Given the description of an element on the screen output the (x, y) to click on. 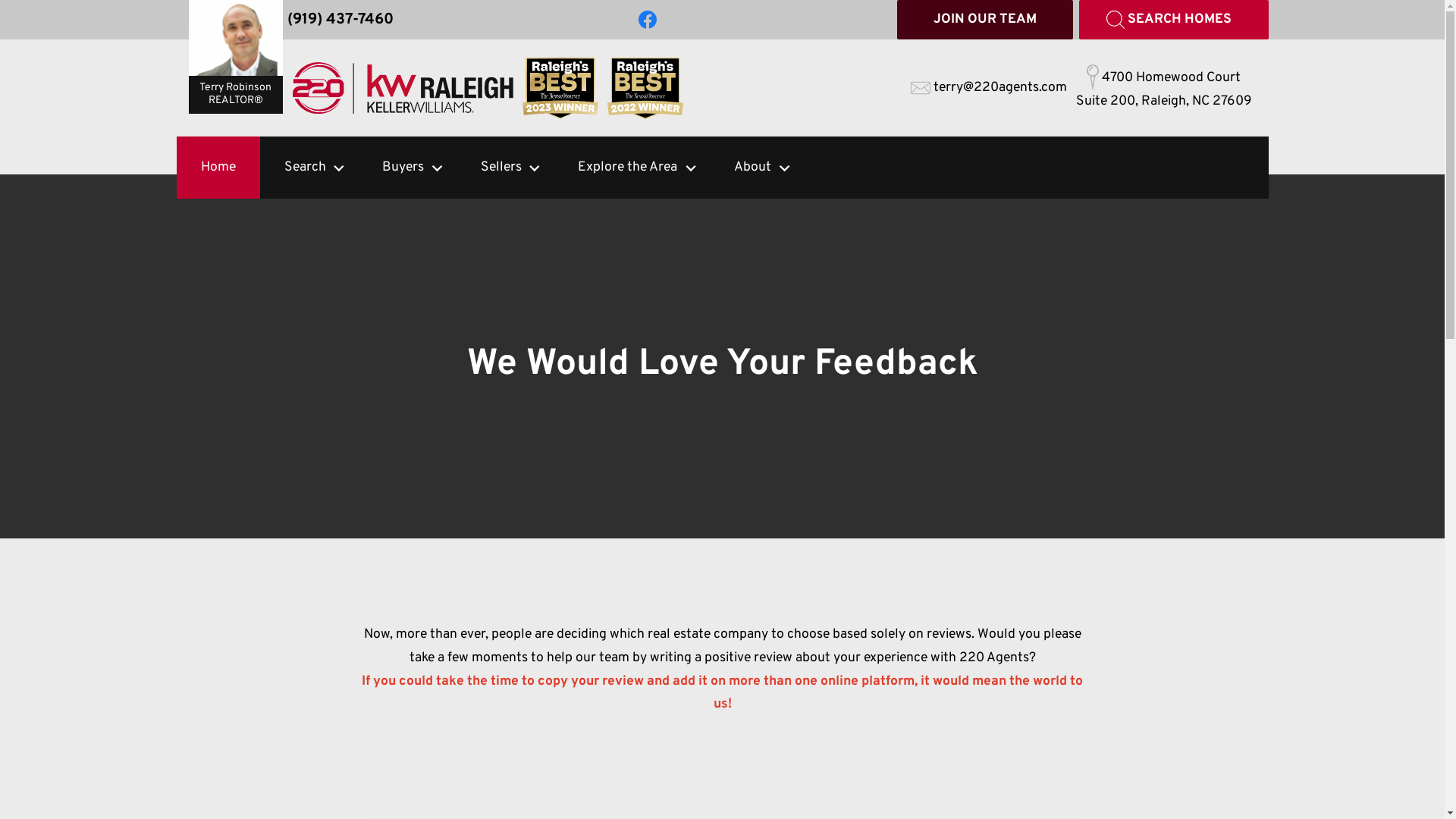
Explore the Area Element type: text (616, 167)
terry@220agents.com Element type: text (988, 87)
Buyers Element type: text (391, 167)
About Element type: text (741, 167)
Search Element type: text (293, 167)
4700 Homewood Court
Suite 200, Raleigh, NC 27609 Element type: text (1163, 88)
JOIN OUR TEAM Element type: text (984, 19)
(919) 437-7460 Element type: text (339, 19)
Home Element type: text (217, 167)
Sellers Element type: text (490, 167)
SEARCH HOMES Element type: text (1172, 19)
